Given the description of an element on the screen output the (x, y) to click on. 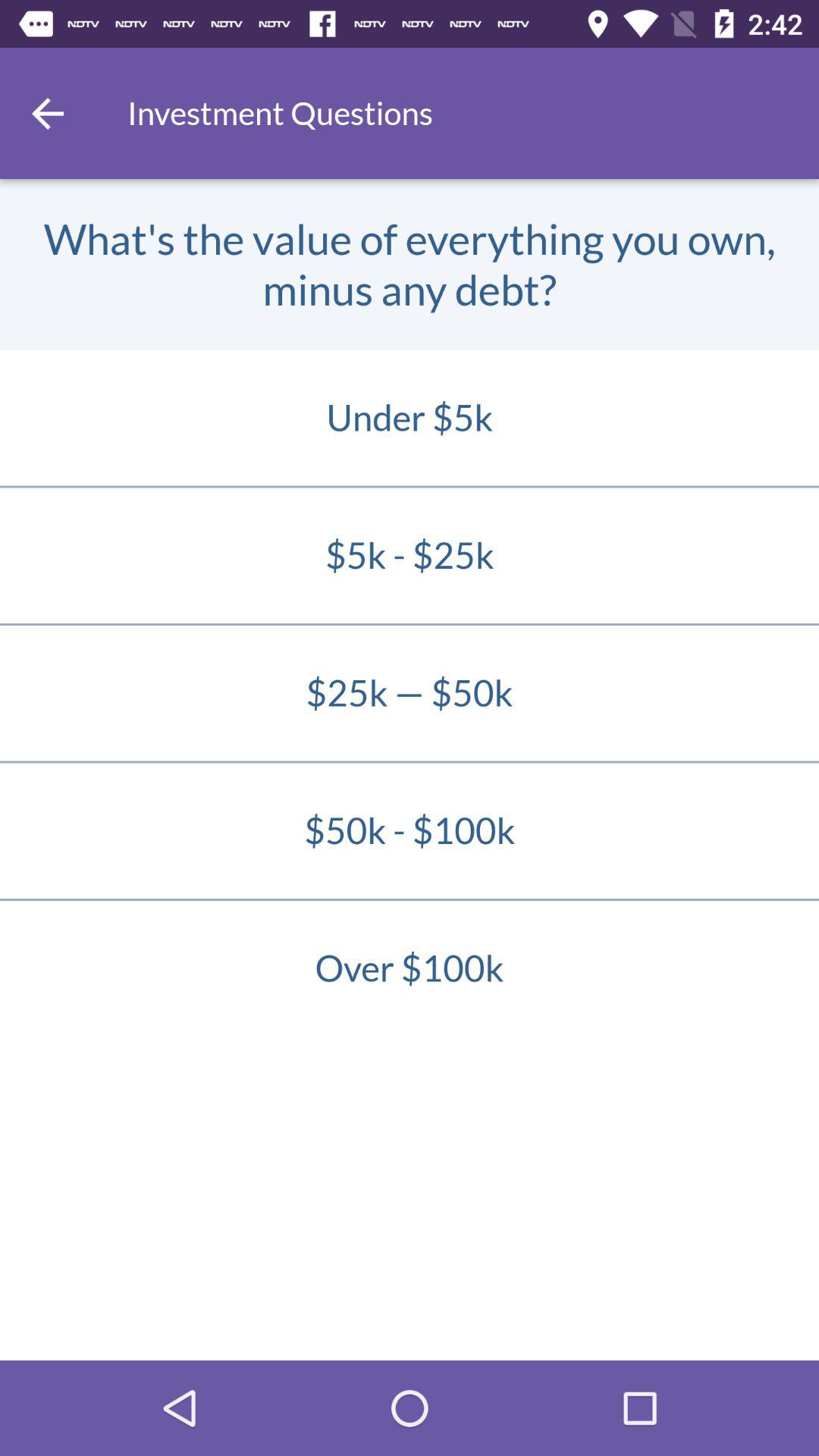
go to previous (47, 113)
